Given the description of an element on the screen output the (x, y) to click on. 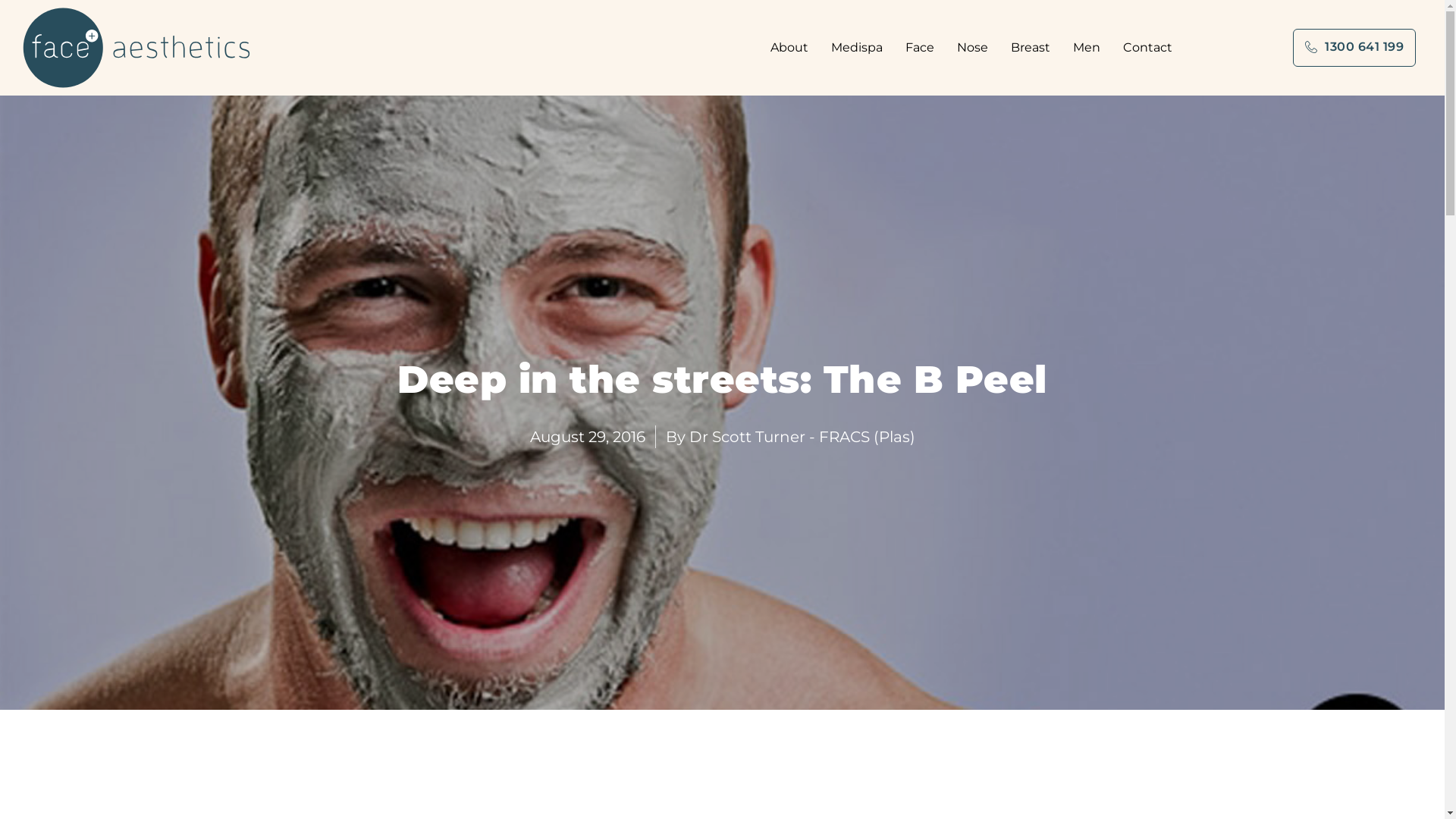
Nose Element type: text (976, 47)
Men Element type: text (1090, 47)
Contact Element type: text (1147, 47)
By Dr Scott Turner - FRACS (Plas) Element type: text (790, 436)
Medispa Element type: text (860, 47)
1300 641 199 Element type: text (1354, 47)
Face Element type: text (923, 47)
About Element type: text (792, 47)
August 29, 2016 Element type: text (586, 436)
Breast Element type: text (1033, 47)
